Given the description of an element on the screen output the (x, y) to click on. 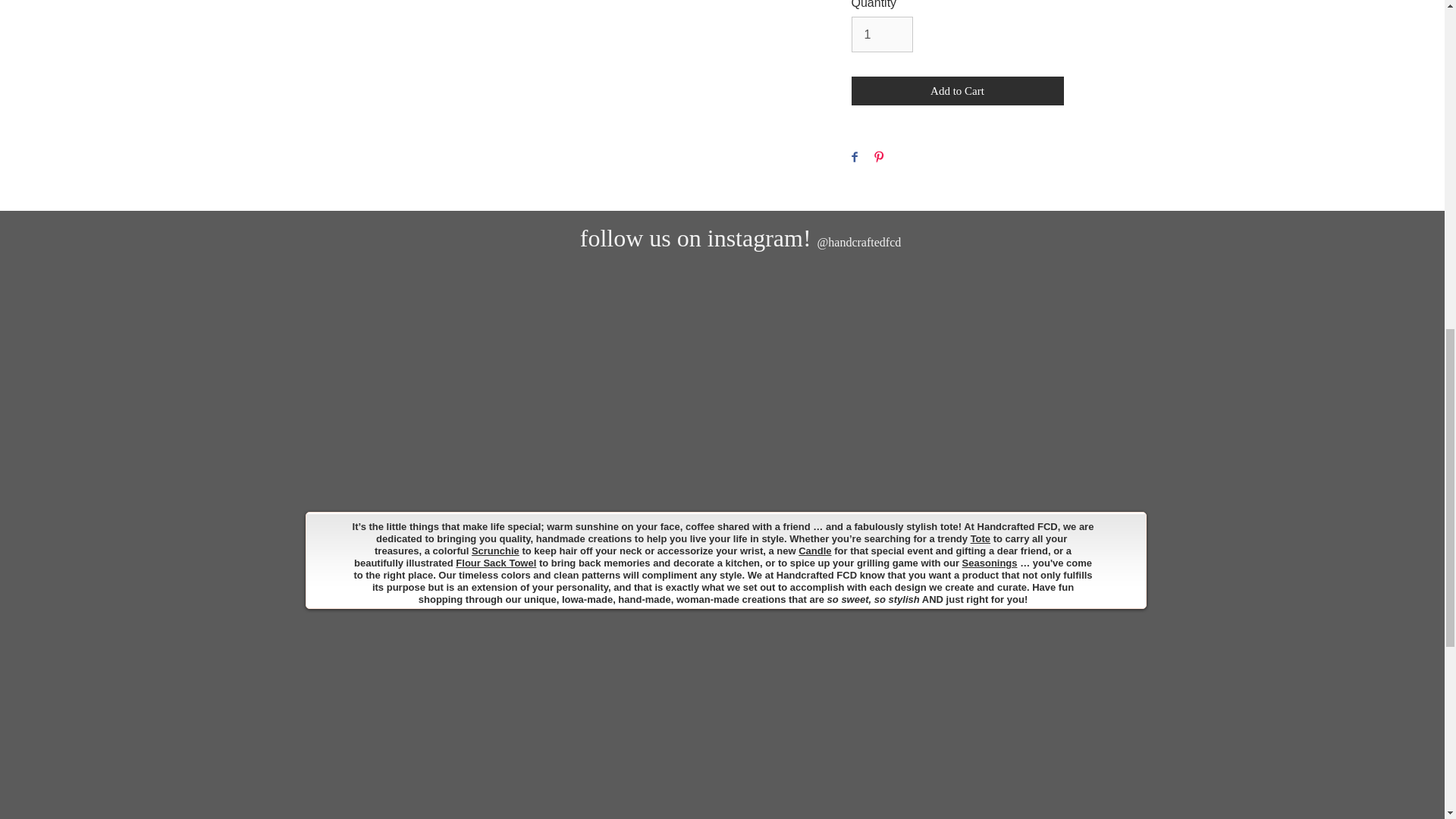
1 (881, 33)
